Given the description of an element on the screen output the (x, y) to click on. 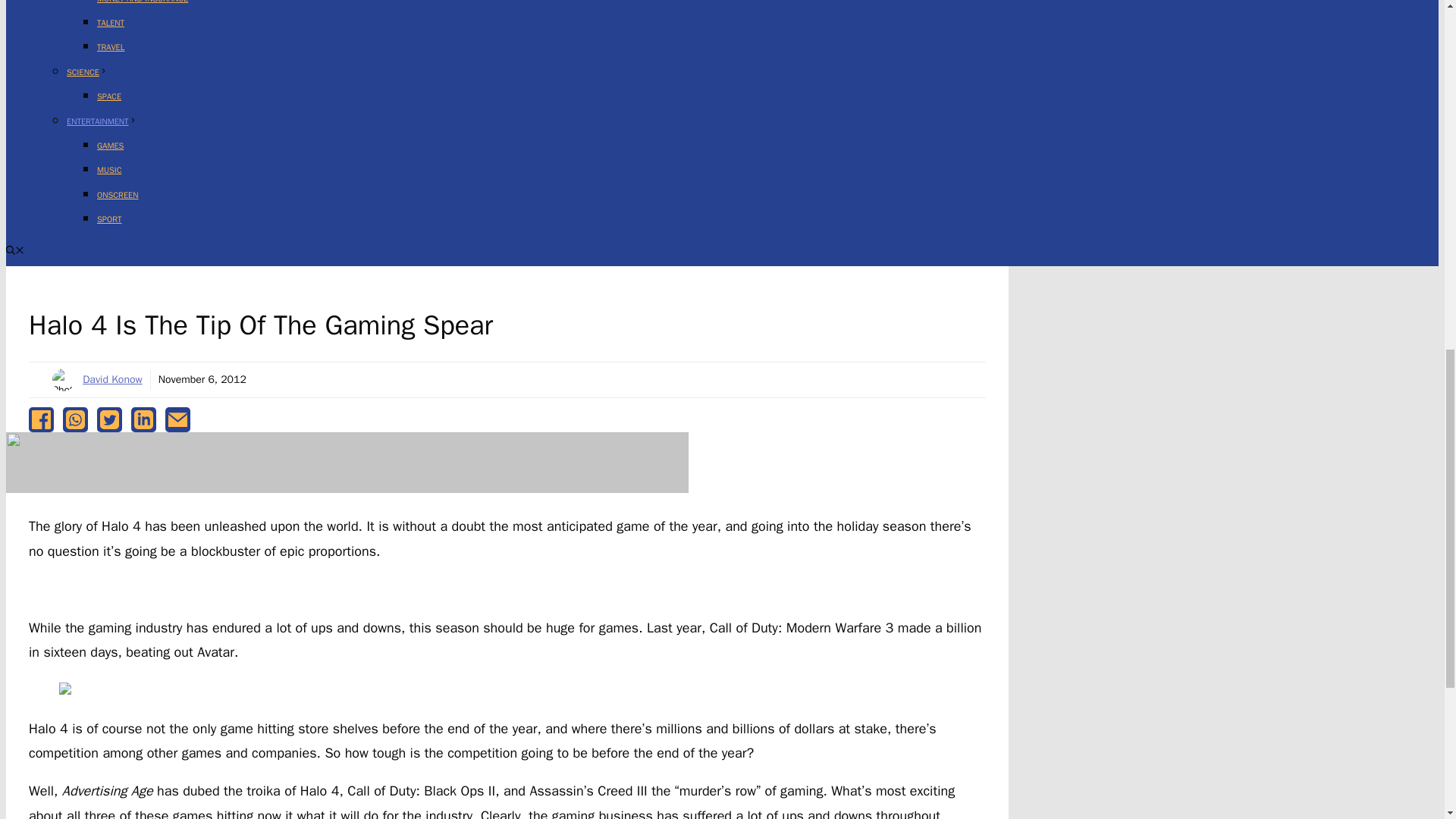
SPACE (108, 95)
TRAVEL (110, 46)
MUSIC (109, 169)
GAMES (110, 145)
ENTERTAINMENT (101, 121)
SCIENCE (86, 71)
TALENT (110, 22)
MONEY AND INSURANCE (142, 2)
